Given the description of an element on the screen output the (x, y) to click on. 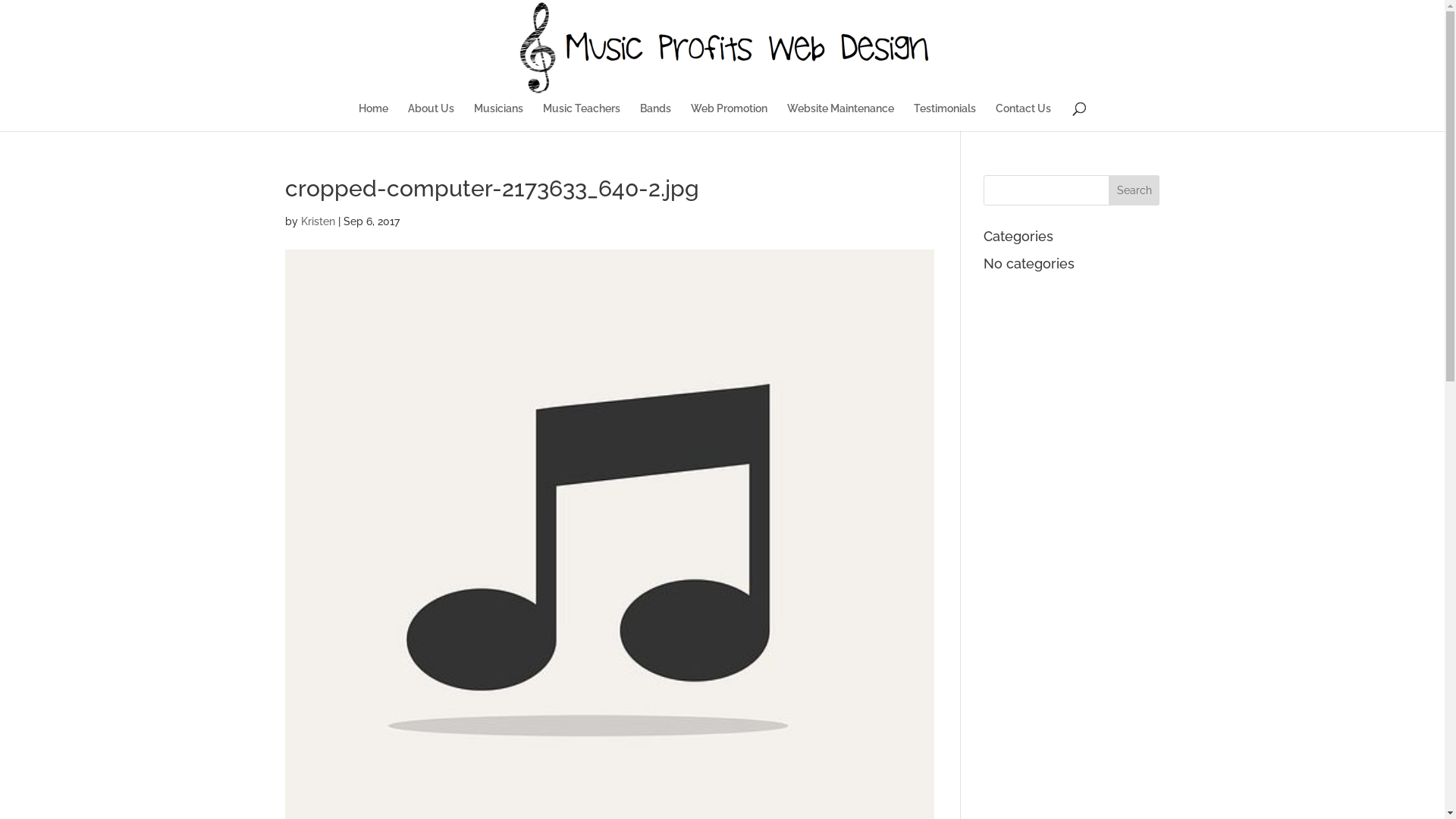
Kristen Element type: text (317, 221)
Musicians Element type: text (498, 117)
Home Element type: text (373, 117)
Contact Us Element type: text (1023, 117)
Website Maintenance Element type: text (840, 117)
Testimonials Element type: text (944, 117)
Bands Element type: text (655, 117)
About Us Element type: text (430, 117)
Web Promotion Element type: text (728, 117)
Music Teachers Element type: text (581, 117)
Search Element type: text (1134, 190)
